Given the description of an element on the screen output the (x, y) to click on. 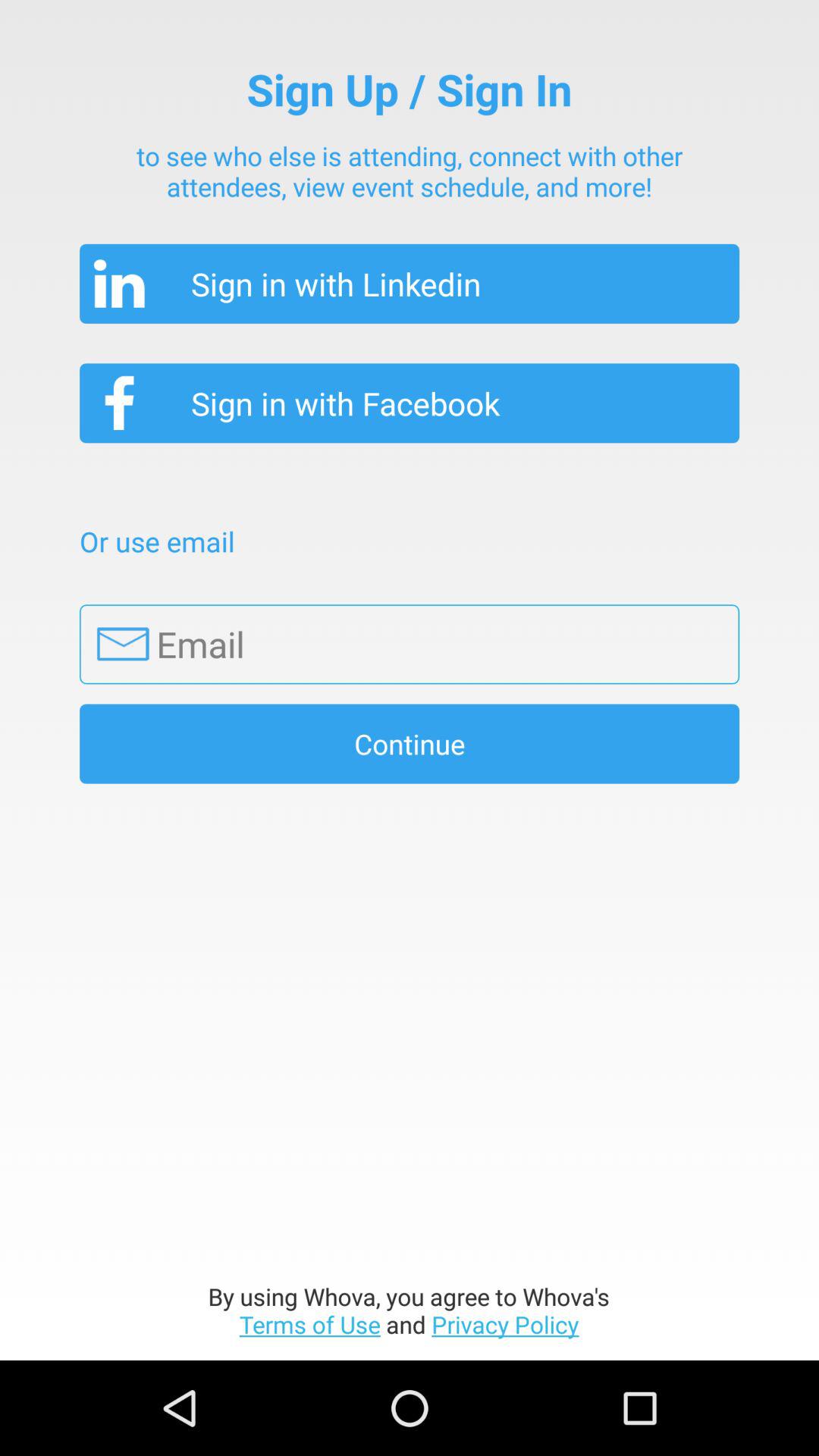
turn on item above the by using whova (409, 743)
